Given the description of an element on the screen output the (x, y) to click on. 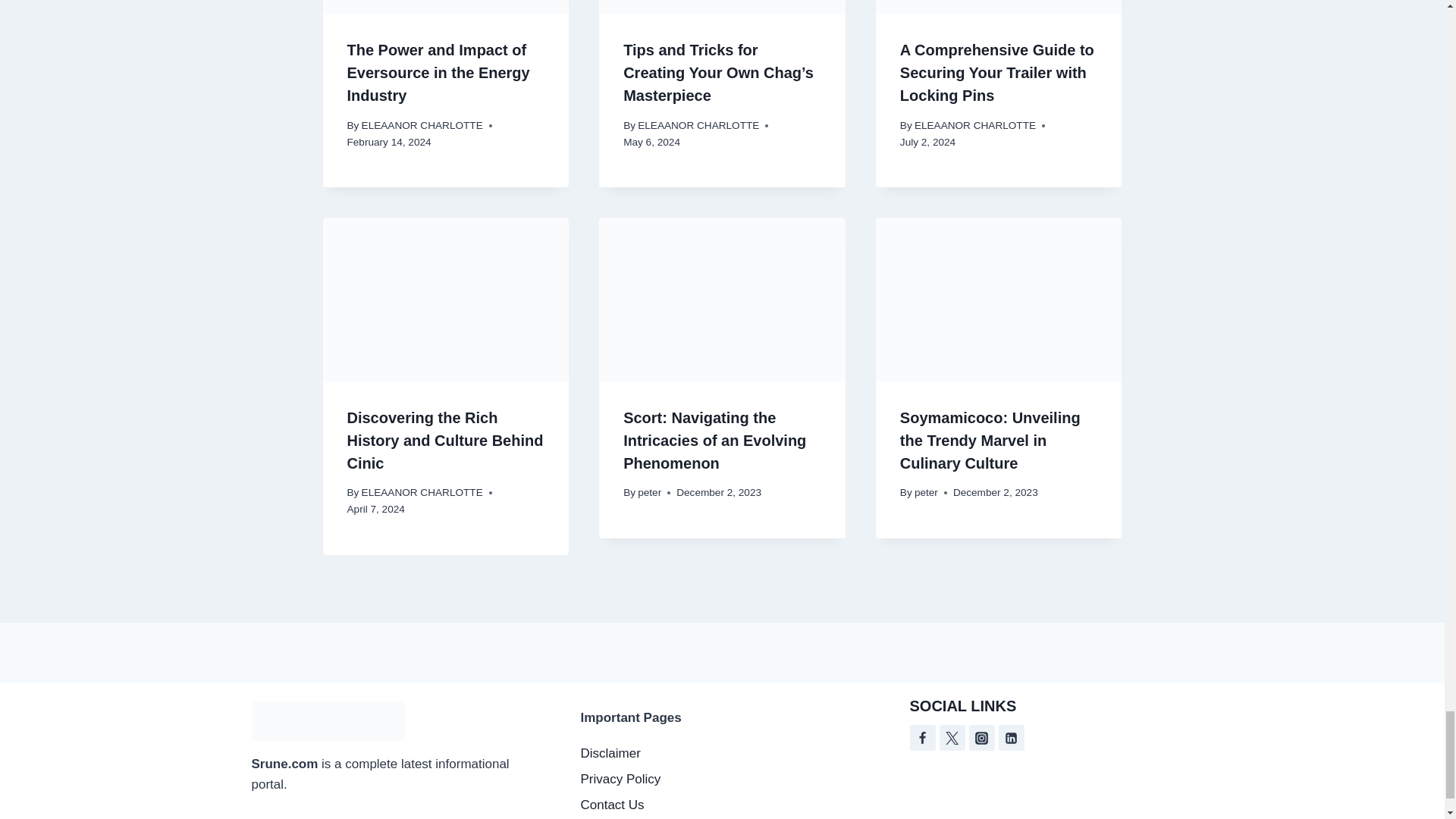
The Power and Impact of Eversource in the Energy Industry (438, 72)
Discovering the Rich History and Culture Behind Cinic (445, 440)
ELEAANOR CHARLOTTE (422, 491)
ELEAANOR CHARLOTTE (697, 125)
ELEAANOR CHARLOTTE (422, 125)
ELEAANOR CHARLOTTE (974, 125)
